Given the description of an element on the screen output the (x, y) to click on. 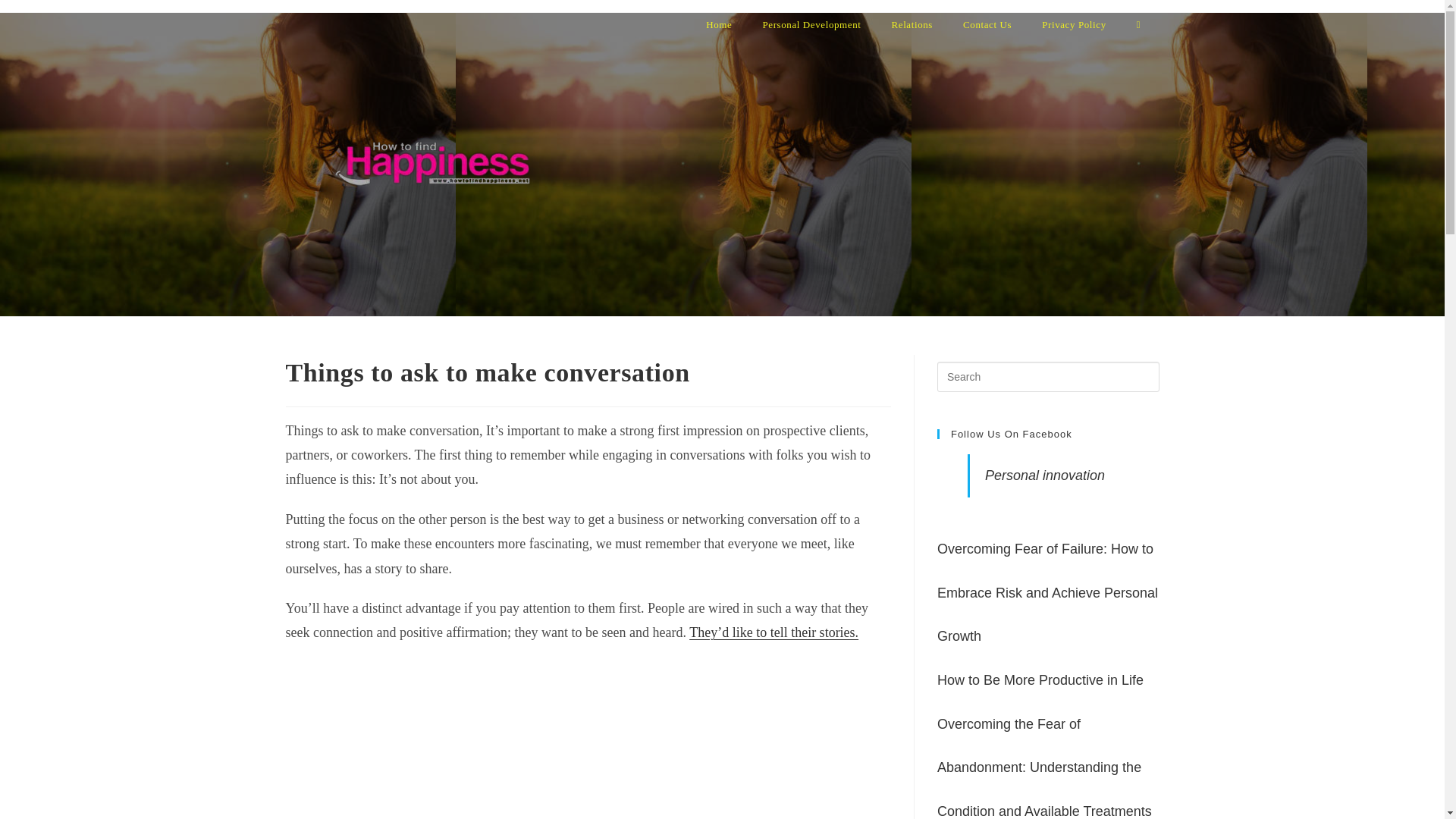
Personal innovation (1045, 475)
Personal Development (811, 24)
Contact Us (987, 24)
Relations (911, 24)
How to Be More Productive in Life (1039, 679)
Toggle Website Search (1138, 24)
Privacy Policy (1074, 24)
Home (718, 24)
